Given the description of an element on the screen output the (x, y) to click on. 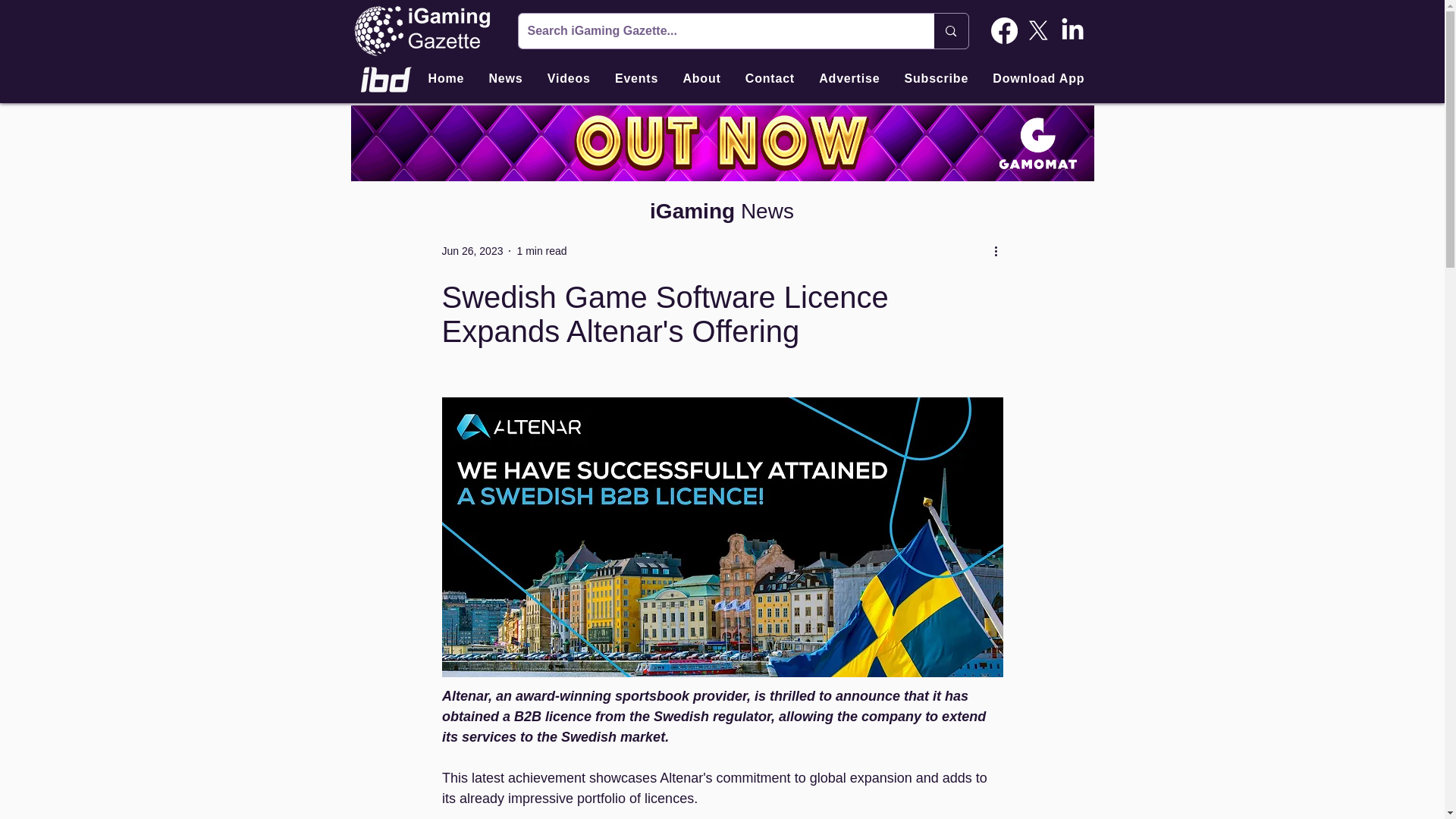
Jun 26, 2023 (471, 250)
Videos (568, 78)
1 min read (541, 250)
News (505, 78)
Home (446, 78)
